Given the description of an element on the screen output the (x, y) to click on. 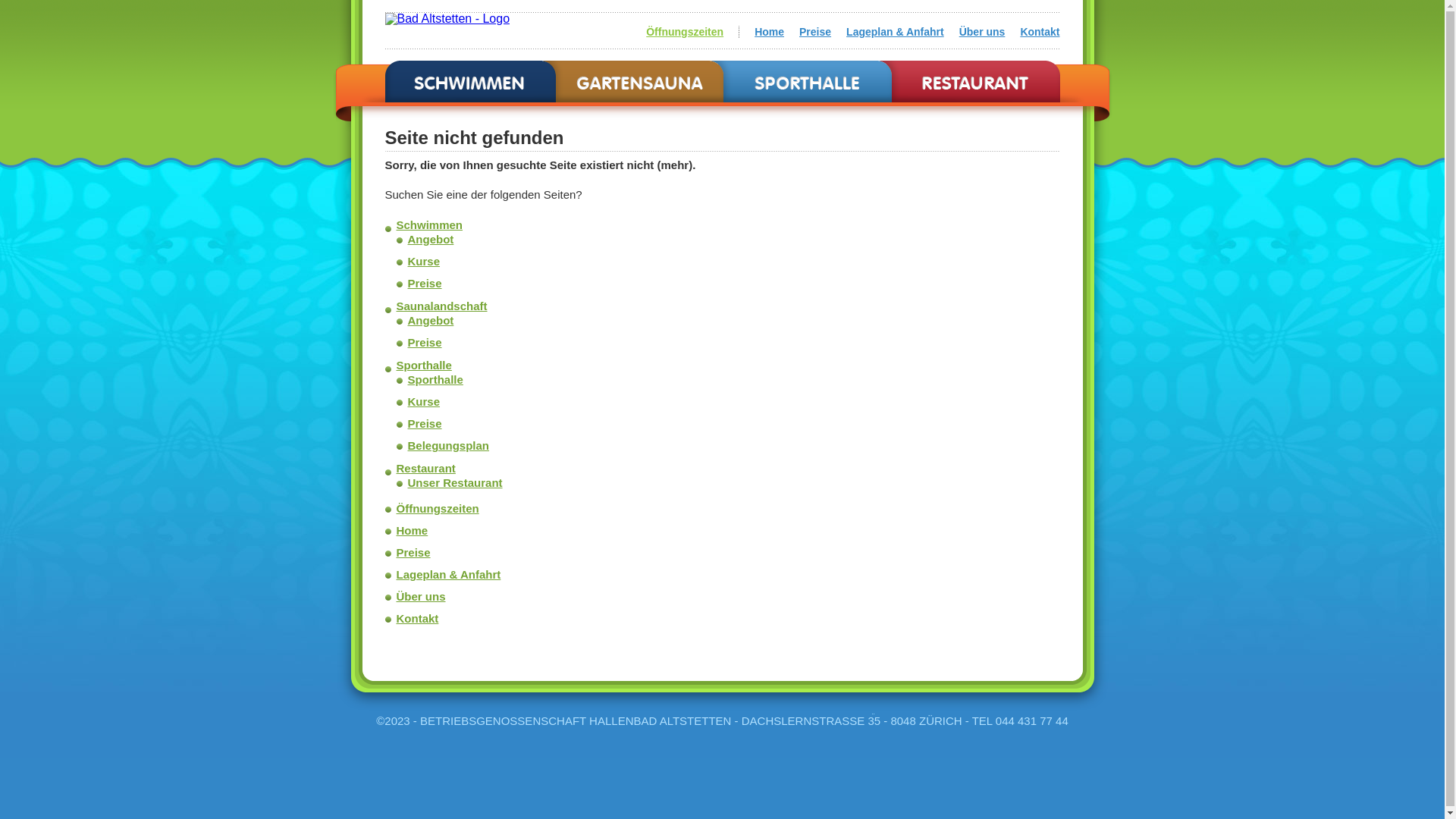
Home Element type: text (769, 31)
Preise Element type: text (424, 341)
Kurse Element type: text (423, 260)
Unser Restaurant Element type: text (454, 482)
Kontakt Element type: text (1039, 31)
Lageplan & Anfahrt Element type: text (895, 31)
Schwimmen Element type: text (428, 224)
Kontakt Element type: text (416, 617)
Angebot Element type: text (430, 238)
Home Element type: text (411, 530)
Preise Element type: text (815, 31)
Restaurant Element type: text (975, 81)
Sporthalle Element type: text (435, 379)
Preise Element type: text (424, 282)
Preise Element type: text (424, 423)
Saunalandschaft Element type: text (440, 305)
Sporthalle Element type: text (807, 81)
Kurse Element type: text (423, 401)
Sporthalle Element type: text (423, 364)
Restaurant Element type: text (425, 467)
Preise Element type: text (412, 552)
Lageplan & Anfahrt Element type: text (447, 573)
Angebot Element type: text (430, 319)
Belegungsplan Element type: text (448, 445)
Schwimmen Element type: text (470, 81)
Saunalandschaft Element type: text (639, 81)
